Given the description of an element on the screen output the (x, y) to click on. 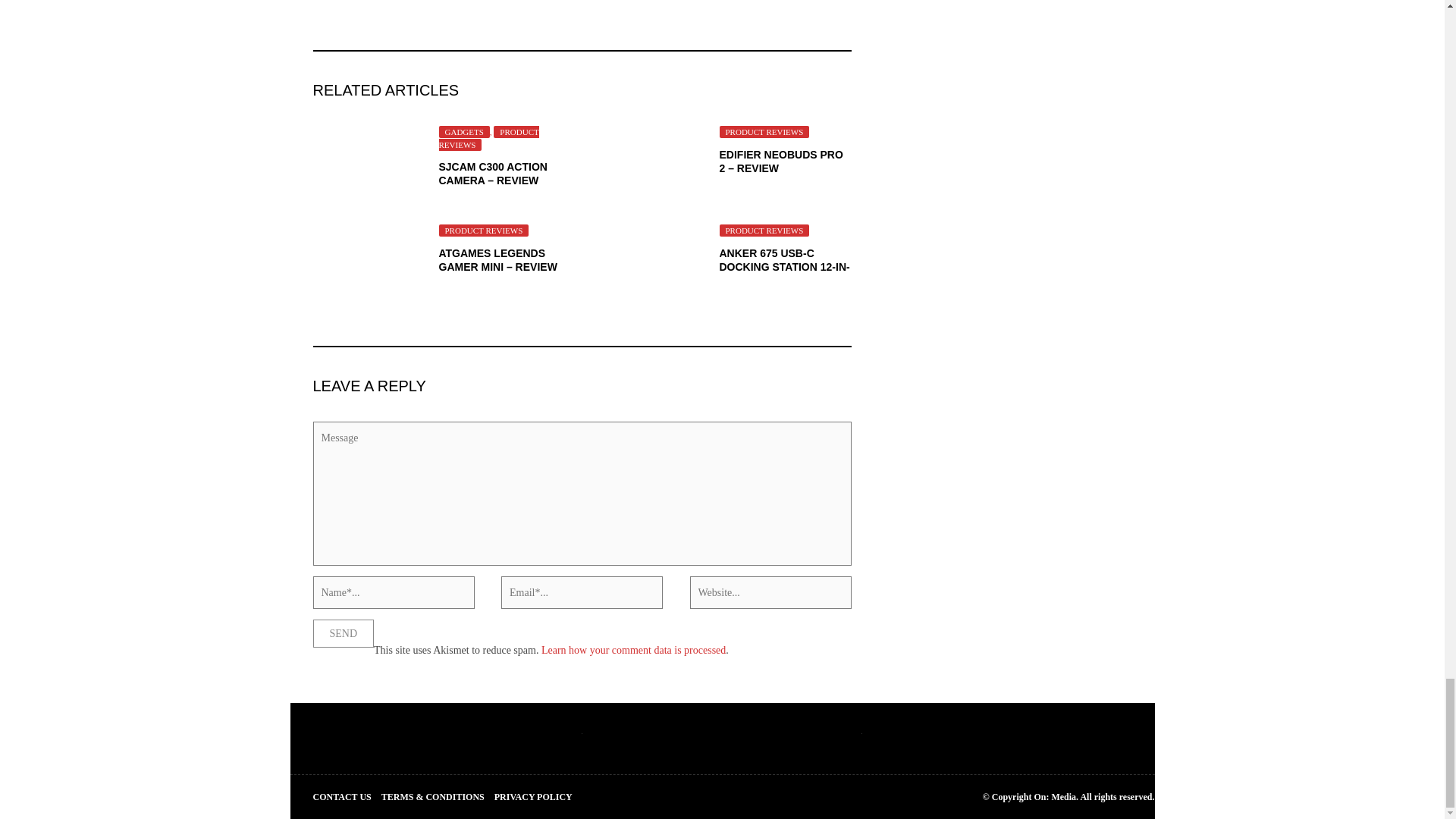
Send (343, 633)
